Given the description of an element on the screen output the (x, y) to click on. 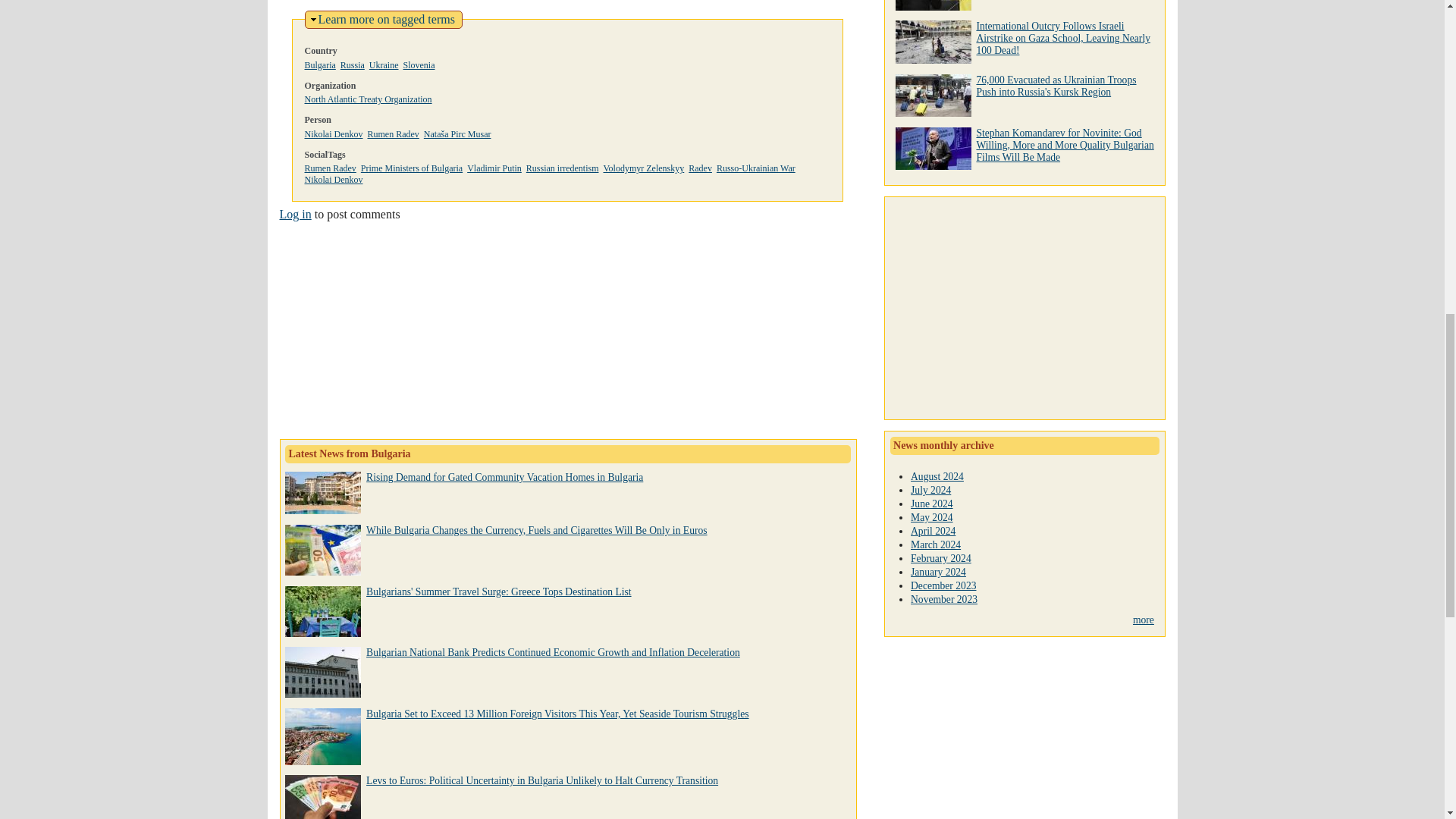
Russian irredentism (561, 167)
Log in (295, 214)
Rumen Radev (392, 133)
Vladimir Putin (386, 19)
Volodymyr Zelenskyy (494, 167)
Bulgaria (643, 167)
Nikolai Denkov (320, 64)
Rumen Radev (333, 133)
Prime Ministers of Bulgaria (330, 167)
